Given the description of an element on the screen output the (x, y) to click on. 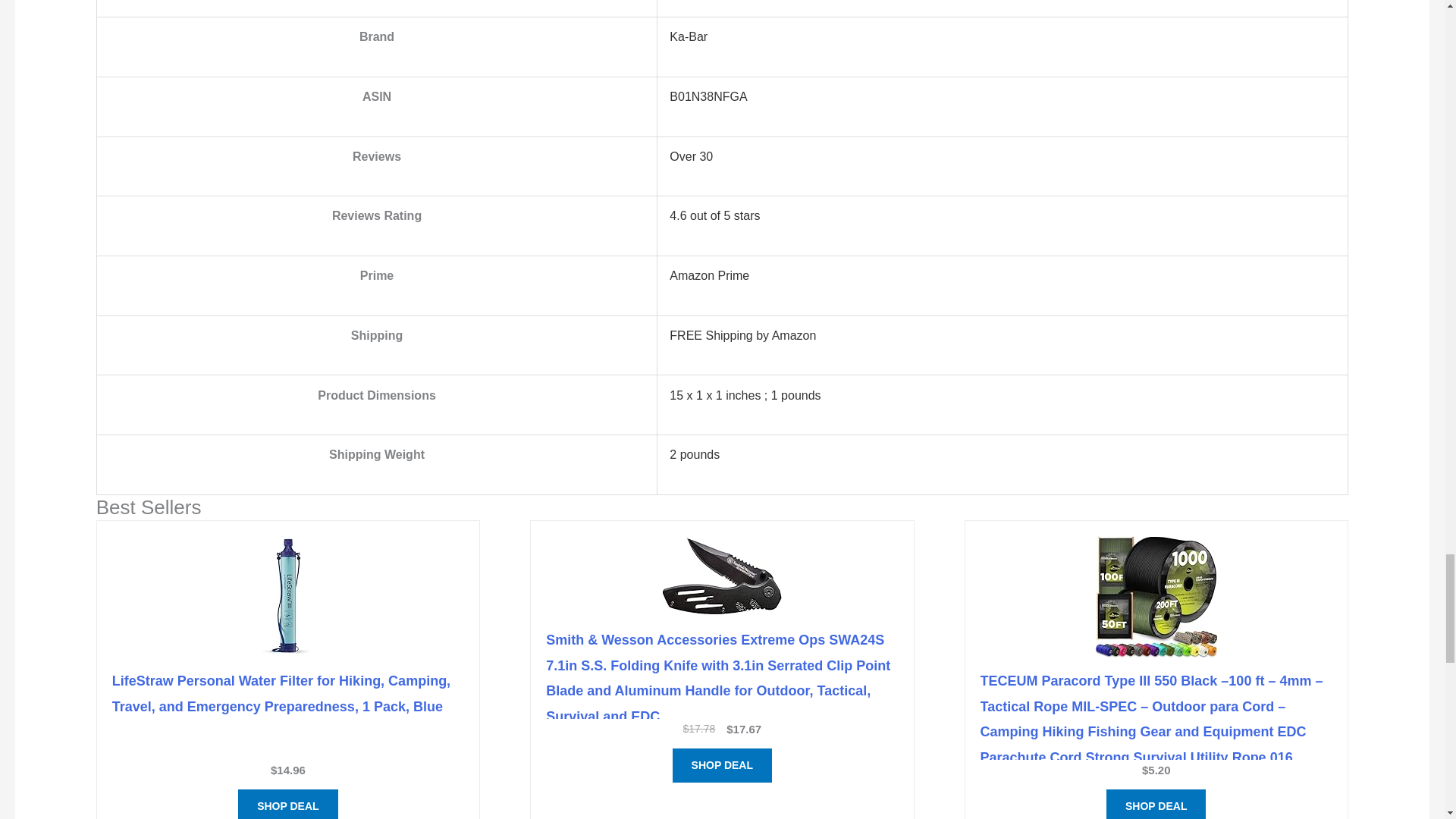
B01N38NFGA (707, 96)
Ka-Bar (688, 36)
